Given the description of an element on the screen output the (x, y) to click on. 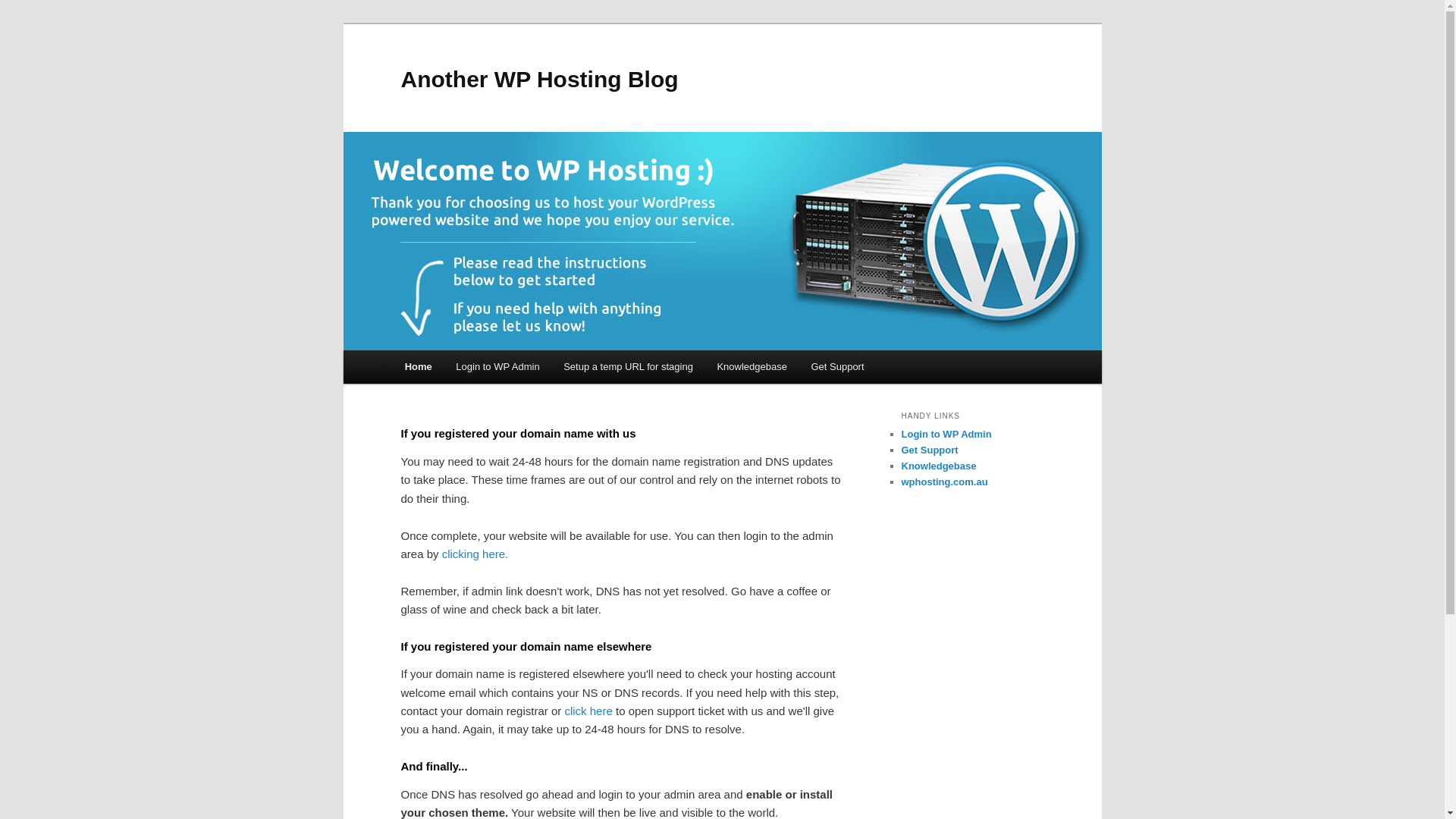
clicking here. Element type: text (475, 553)
Login to WP Admin Element type: text (945, 433)
Knowledgebase Element type: text (752, 366)
Home Element type: text (418, 366)
Get Support Element type: text (837, 366)
Get Support Element type: text (928, 449)
wphosting.com.au Element type: text (943, 481)
Knowledgebase Element type: text (937, 465)
Setup a temp URL for staging Element type: text (627, 366)
Another WP Hosting Blog Element type: text (538, 78)
Login to WP Admin Element type: text (498, 366)
click here Element type: text (587, 710)
